Given the description of an element on the screen output the (x, y) to click on. 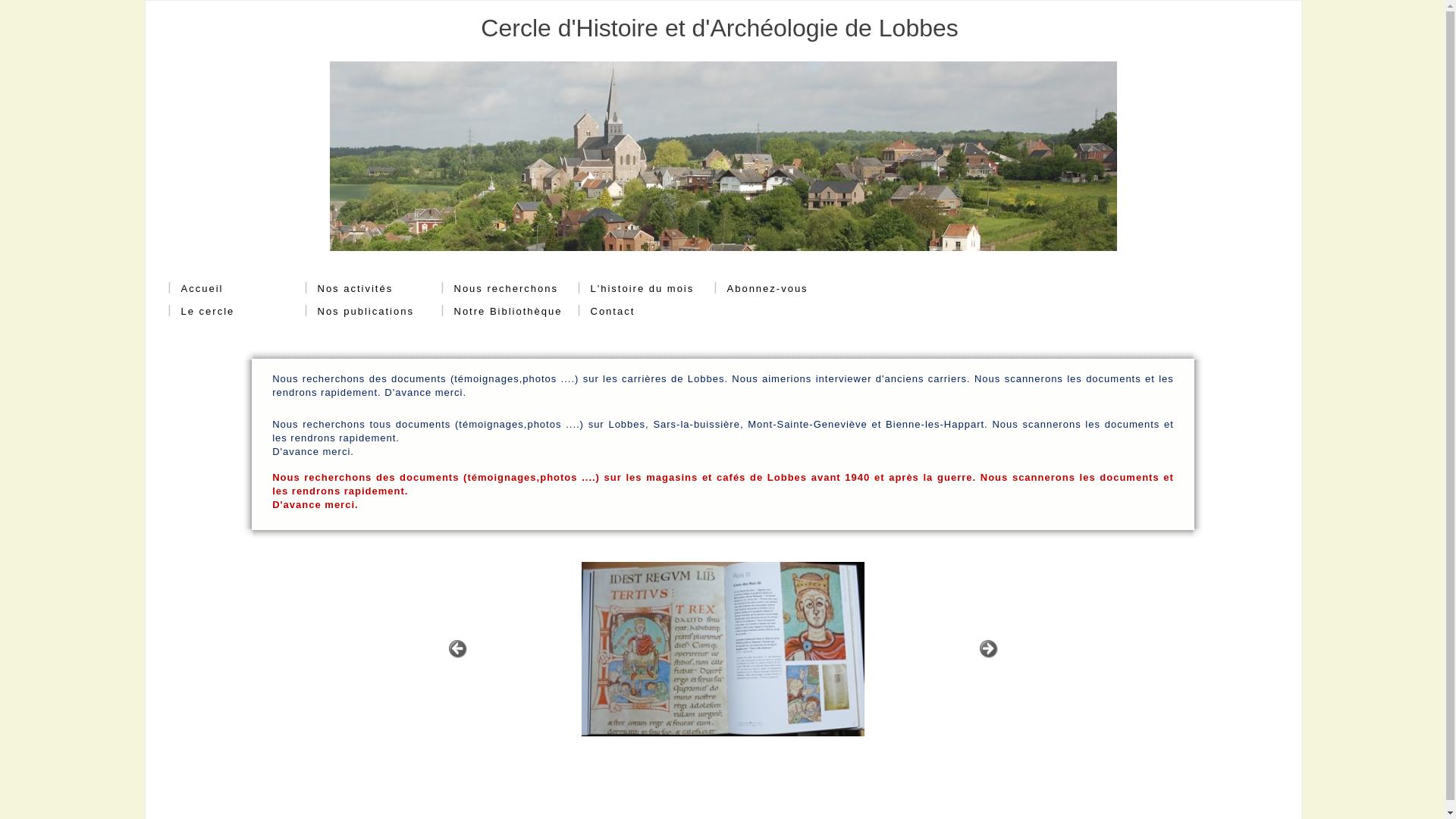
Accueil Element type: text (201, 288)
Contact Element type: text (606, 311)
bible-ouverte.jpg Element type: hover (721, 648)
Nous recherchons Element type: text (499, 288)
Le cercle Element type: text (207, 311)
Abonnez-vous Element type: text (766, 288)
L'histoire du mois Element type: text (641, 288)
Contact Element type: text (611, 311)
Nous recherchons Element type: text (505, 288)
Nos publications Element type: text (359, 311)
Abonnez-vous Element type: text (761, 288)
Nos publications Element type: text (364, 311)
Accueil Element type: text (195, 288)
L'histoire du mois Element type: text (635, 288)
Le cercle Element type: text (201, 311)
